Given the description of an element on the screen output the (x, y) to click on. 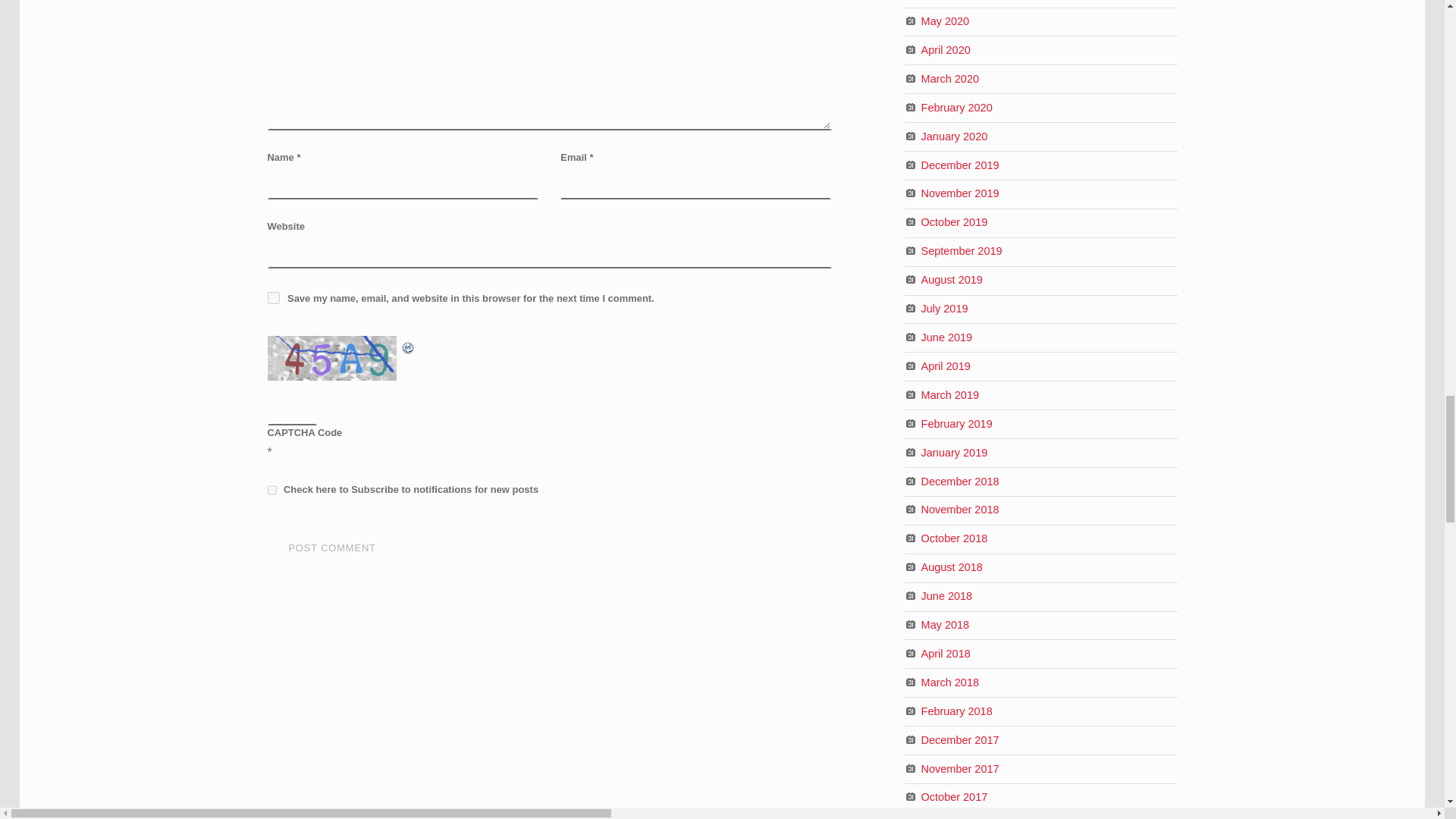
Refresh Image (408, 345)
Post Comment (331, 549)
CAPTCHA Image (332, 357)
yes (272, 297)
1 (271, 490)
Post Comment (331, 549)
